Given the description of an element on the screen output the (x, y) to click on. 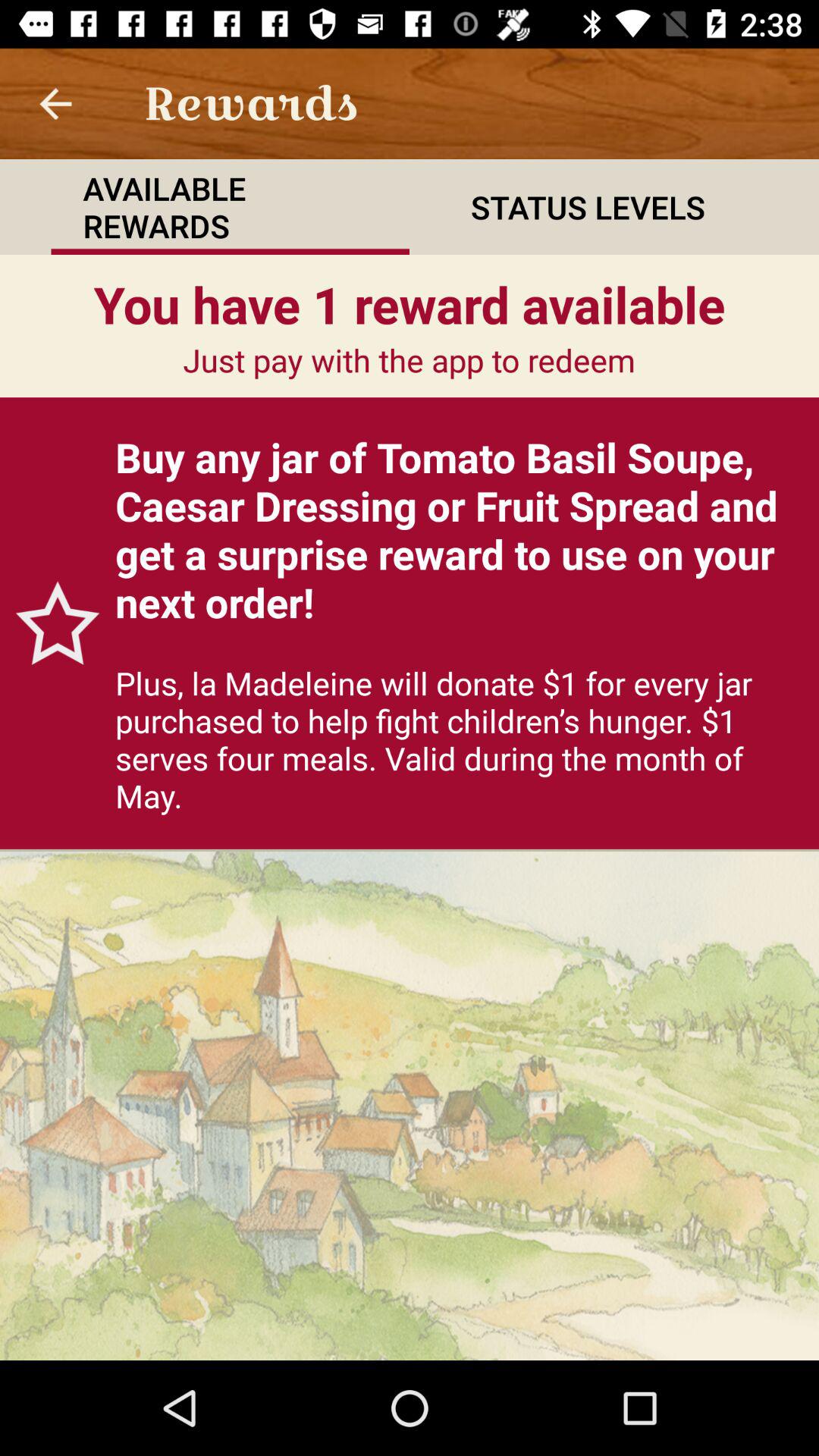
press item above the available rewards item (55, 103)
